Given the description of an element on the screen output the (x, y) to click on. 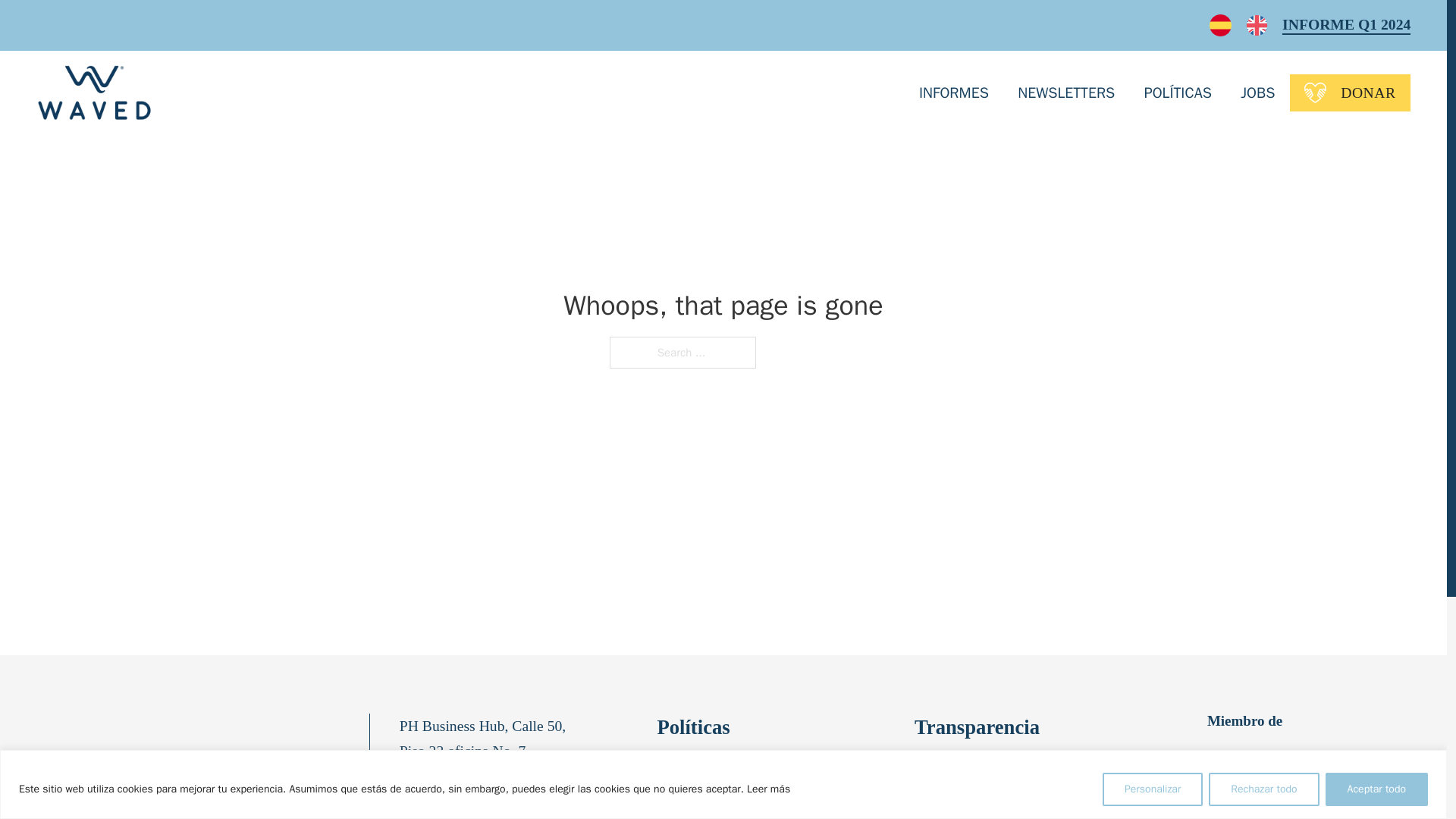
Rechazar todo (1263, 788)
INFORMES (953, 92)
JOBS (1257, 92)
Informe Q2 2023 (969, 771)
NEWSLETTERS (1066, 92)
DONAR (1350, 92)
Informe Q1 2023 (969, 803)
Personalizar (1152, 788)
Aceptar todo (1376, 788)
